Given the description of an element on the screen output the (x, y) to click on. 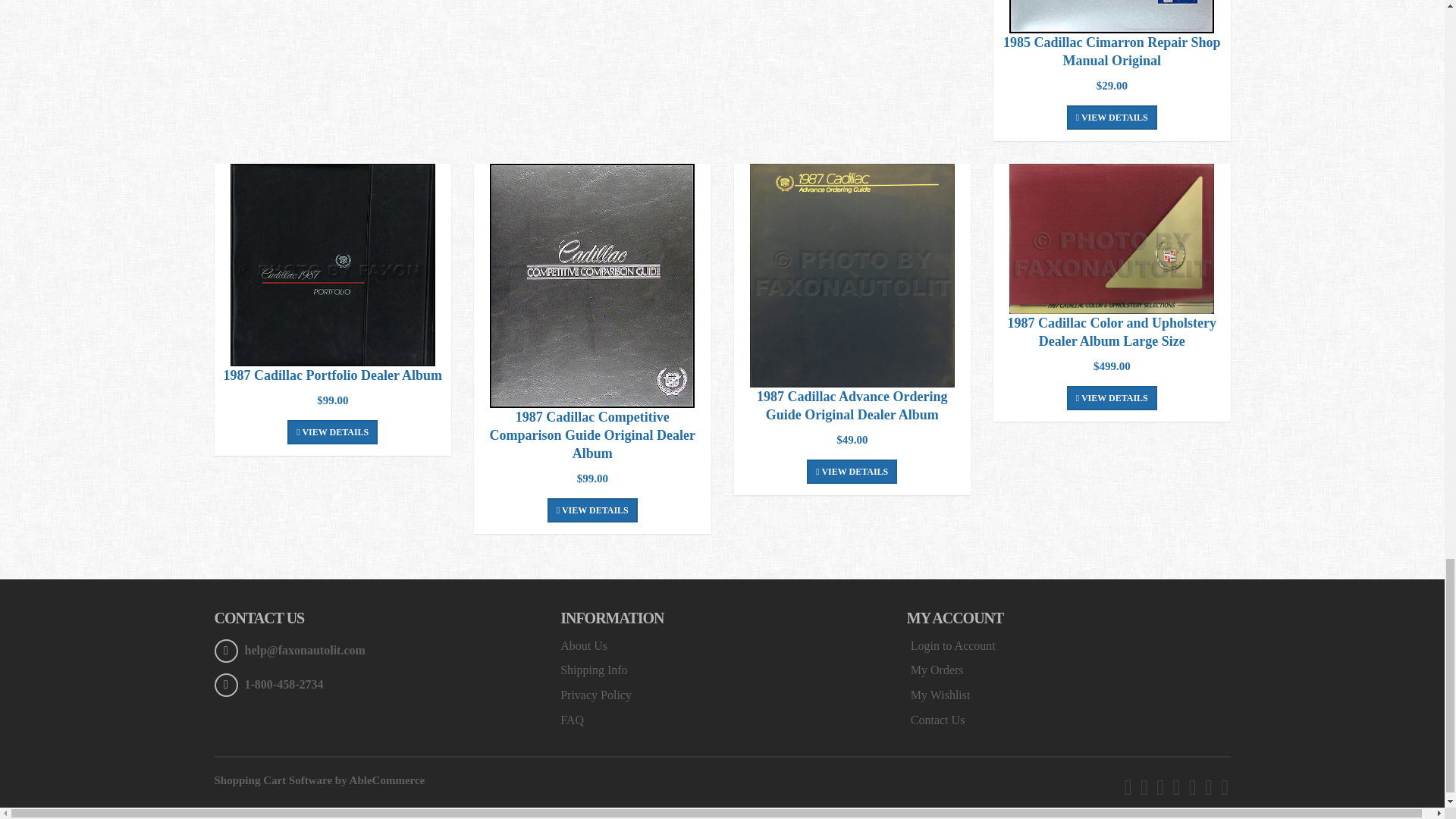
1987 Cadillac Advance Ordering Guide Original Dealer Album (852, 275)
1987 Cadillac Portfolio Dealer Album (332, 264)
1987 Cadillac Color and Upholstery Dealer Album Large Size (1111, 238)
1985 Cadillac Cimarron Shop Manual Original  (1111, 16)
